Given the description of an element on the screen output the (x, y) to click on. 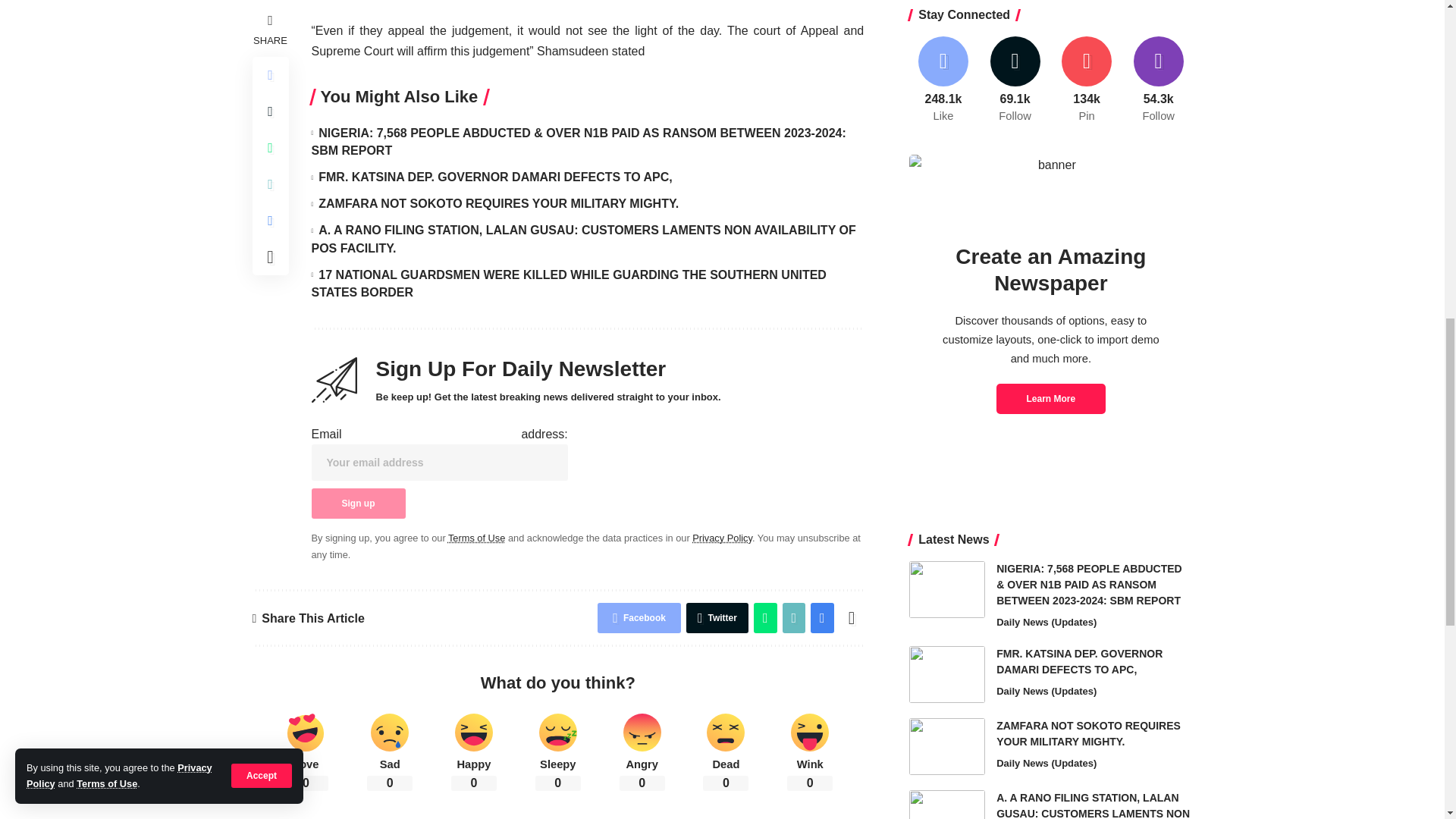
ZAMFARA NOT SOKOTO REQUIRES YOUR MILITARY MIGHTY. (946, 254)
FMR. KATSINA DEP. GOVERNOR DAMARI DEFECTS TO APC, (946, 182)
Sign up (357, 503)
